Given the description of an element on the screen output the (x, y) to click on. 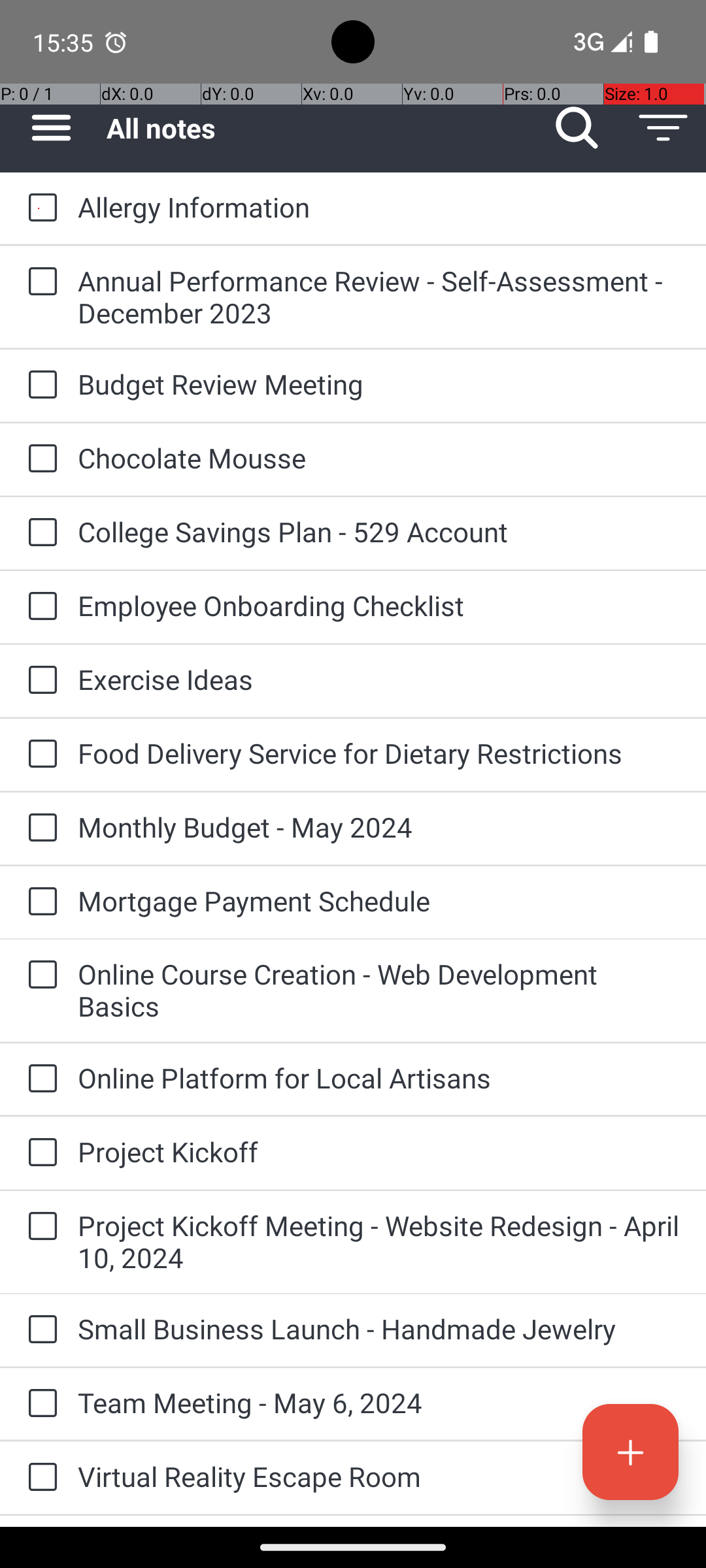
to-do: Chocolate Mousse Element type: android.widget.CheckBox (38, 459)
Chocolate Mousse Element type: android.widget.TextView (378, 457)
to-do: College Savings Plan - 529 Account Element type: android.widget.CheckBox (38, 533)
College Savings Plan - 529 Account Element type: android.widget.TextView (378, 531)
to-do: Employee Onboarding Checklist Element type: android.widget.CheckBox (38, 607)
Employee Onboarding Checklist Element type: android.widget.TextView (378, 604)
to-do: Exercise Ideas Element type: android.widget.CheckBox (38, 680)
to-do: Food Delivery Service for Dietary Restrictions Element type: android.widget.CheckBox (38, 754)
Food Delivery Service for Dietary Restrictions Element type: android.widget.TextView (378, 752)
to-do: Monthly Budget - May 2024 Element type: android.widget.CheckBox (38, 828)
Monthly Budget - May 2024 Element type: android.widget.TextView (378, 826)
to-do: Mortgage Payment Schedule Element type: android.widget.CheckBox (38, 902)
Mortgage Payment Schedule Element type: android.widget.TextView (378, 900)
to-do: Online Platform for Local Artisans Element type: android.widget.CheckBox (38, 1079)
Online Platform for Local Artisans Element type: android.widget.TextView (378, 1077)
to-do: Project Kickoff Element type: android.widget.CheckBox (38, 1153)
Project Kickoff Element type: android.widget.TextView (378, 1151)
to-do: Project Kickoff Meeting - Website Redesign - April 10, 2024 Element type: android.widget.CheckBox (38, 1226)
Project Kickoff Meeting - Website Redesign - April 10, 2024 Element type: android.widget.TextView (378, 1240)
to-do: Small Business Launch - Handmade Jewelry Element type: android.widget.CheckBox (38, 1330)
Small Business Launch - Handmade Jewelry Element type: android.widget.TextView (378, 1328)
Team Meeting - May 6, 2024 Element type: android.widget.TextView (378, 1402)
to-do: Virtual Reality Escape Room Element type: android.widget.CheckBox (38, 1477)
Virtual Reality Escape Room Element type: android.widget.TextView (378, 1475)
to-do: Zero-Waste Grocery Store Element type: android.widget.CheckBox (38, 1520)
